Given the description of an element on the screen output the (x, y) to click on. 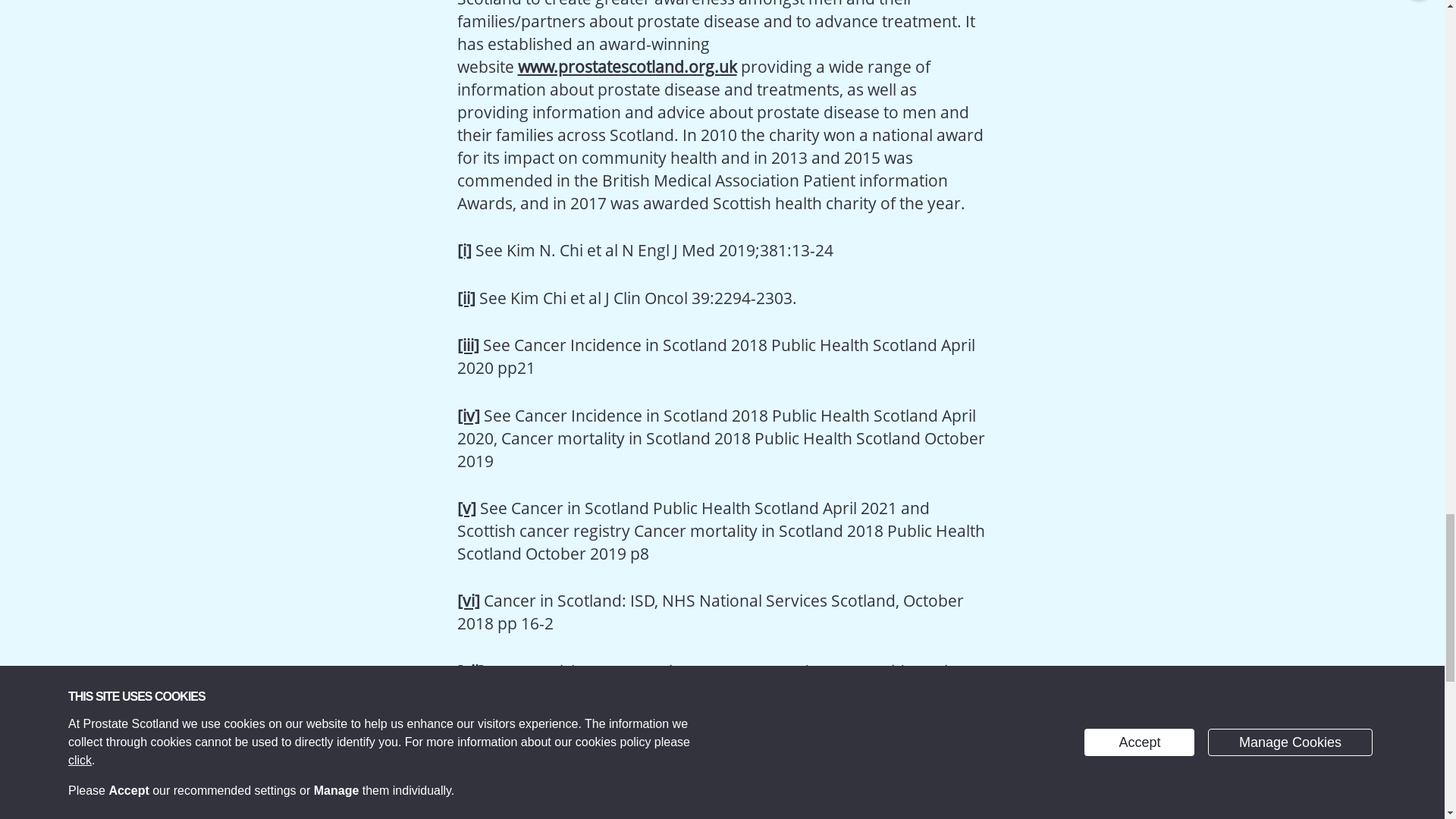
www.prostatescotland.org.uk (626, 66)
